Given the description of an element on the screen output the (x, y) to click on. 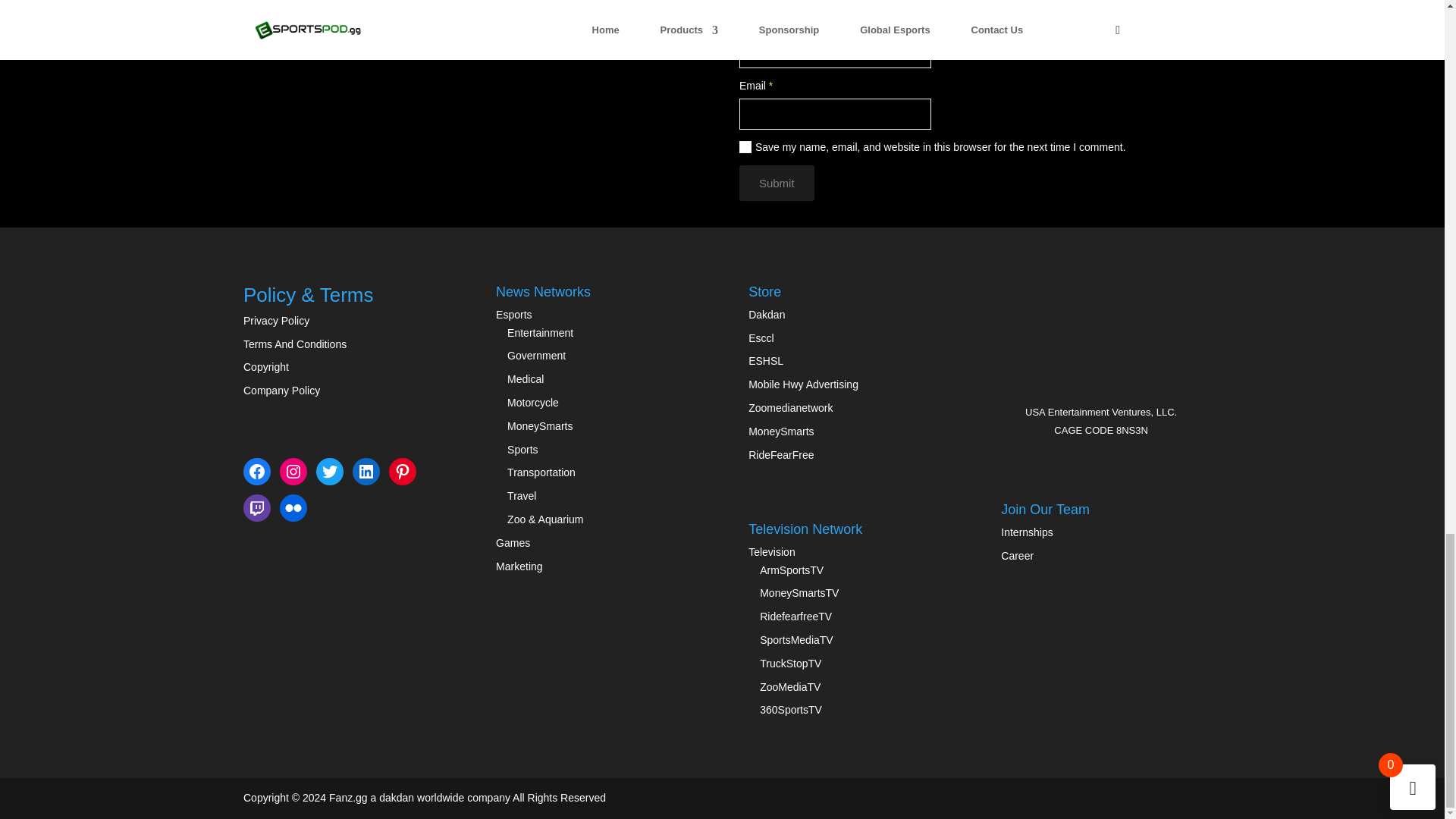
Copyright (265, 367)
Esports (513, 314)
Entertainment (539, 332)
Terms And Conditions (294, 344)
yes (745, 146)
Submit (776, 183)
Privacy Policy (275, 320)
Company Policy (281, 390)
Submit (776, 183)
